Given the description of an element on the screen output the (x, y) to click on. 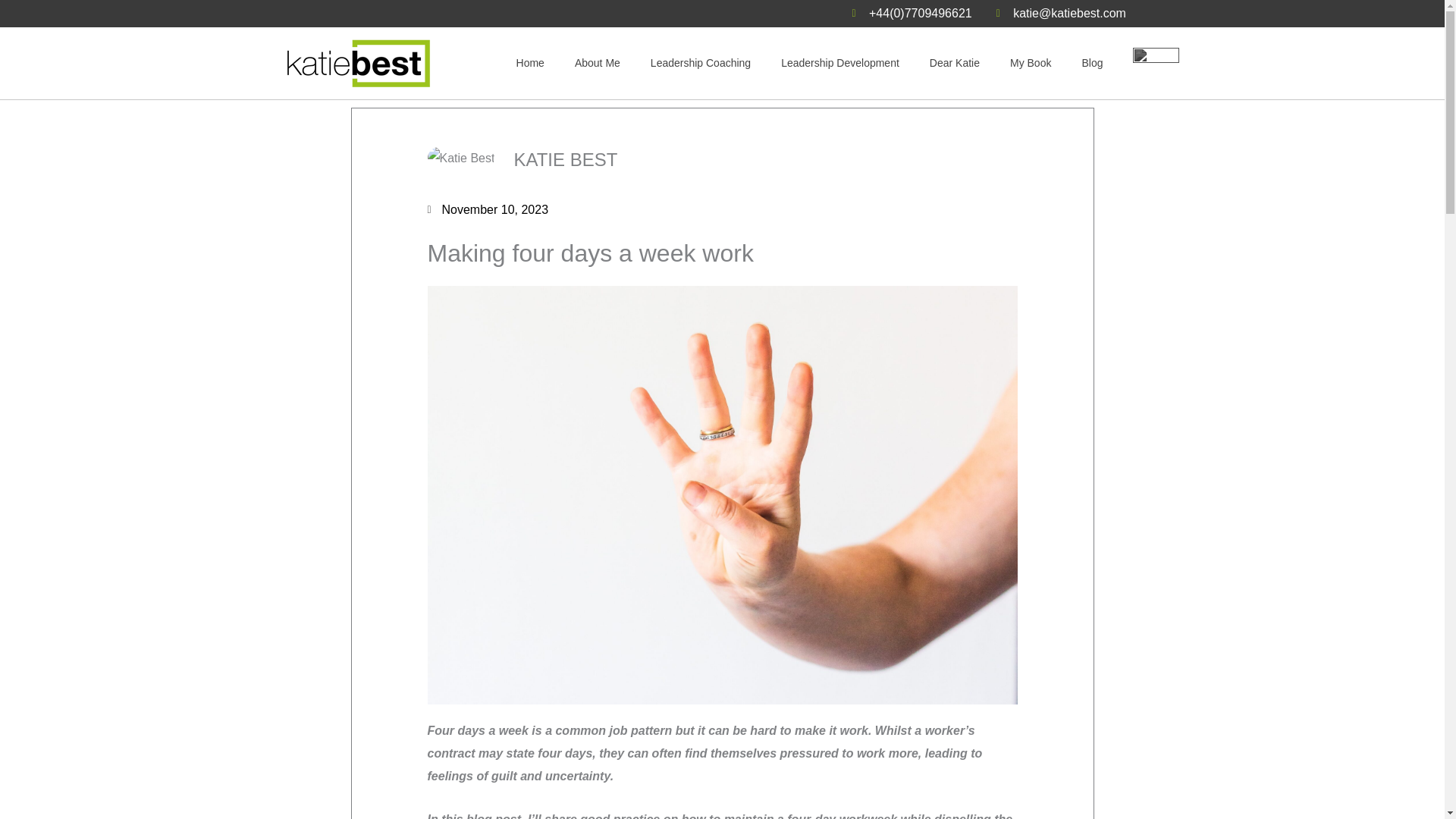
My Book (1029, 62)
About Me (596, 62)
Home (529, 62)
Dear Katie (954, 62)
Leadership Development (839, 62)
Leadership Coaching (699, 62)
November 10, 2023 (488, 210)
Blog (1091, 62)
